Given the description of an element on the screen output the (x, y) to click on. 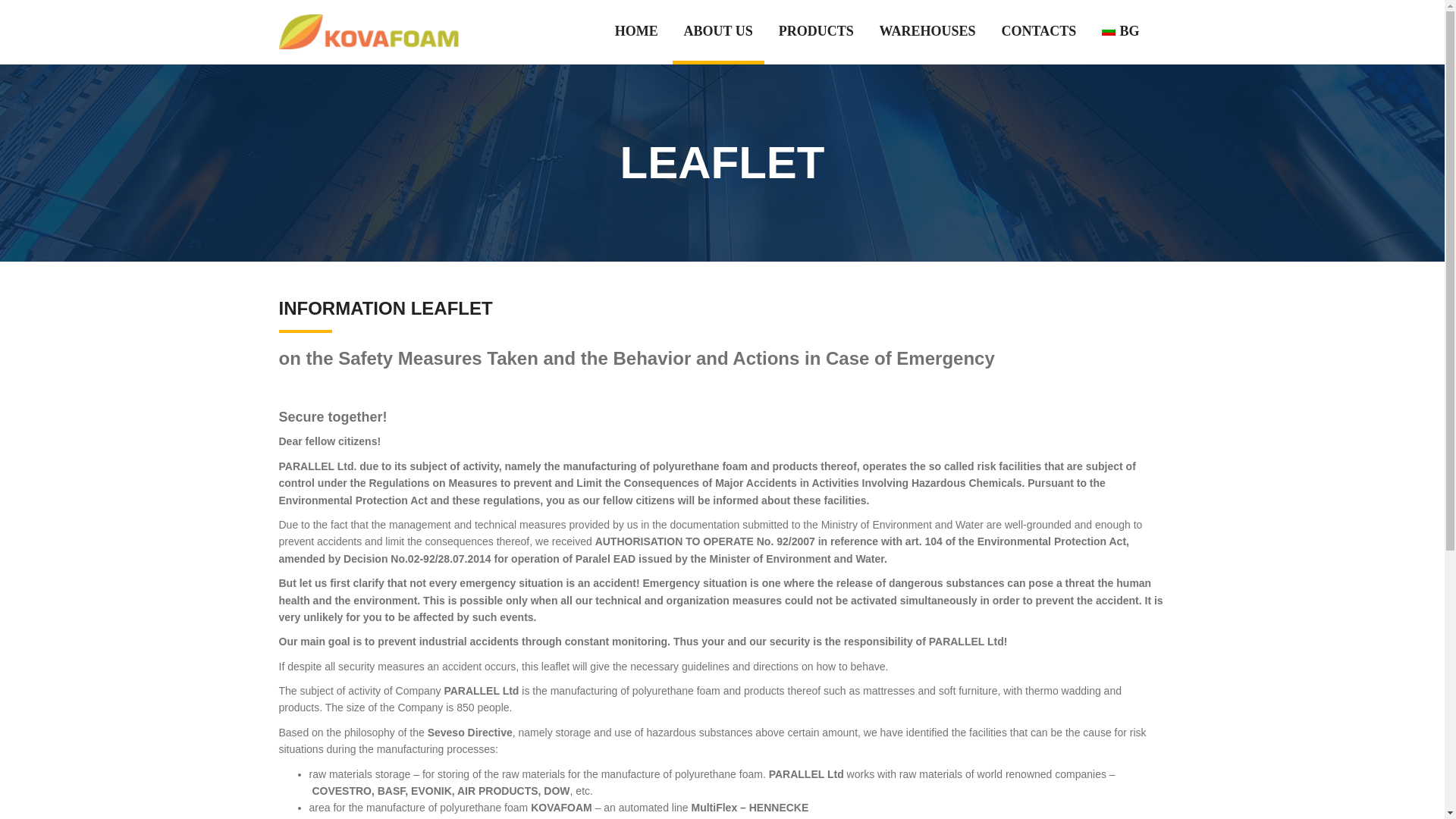
ABOUT US (718, 44)
PRODUCTS (815, 44)
WAREHOUSES (927, 44)
BG (1120, 44)
CONTACTS (1039, 44)
HOME (636, 44)
BG (1120, 44)
